Given the description of an element on the screen output the (x, y) to click on. 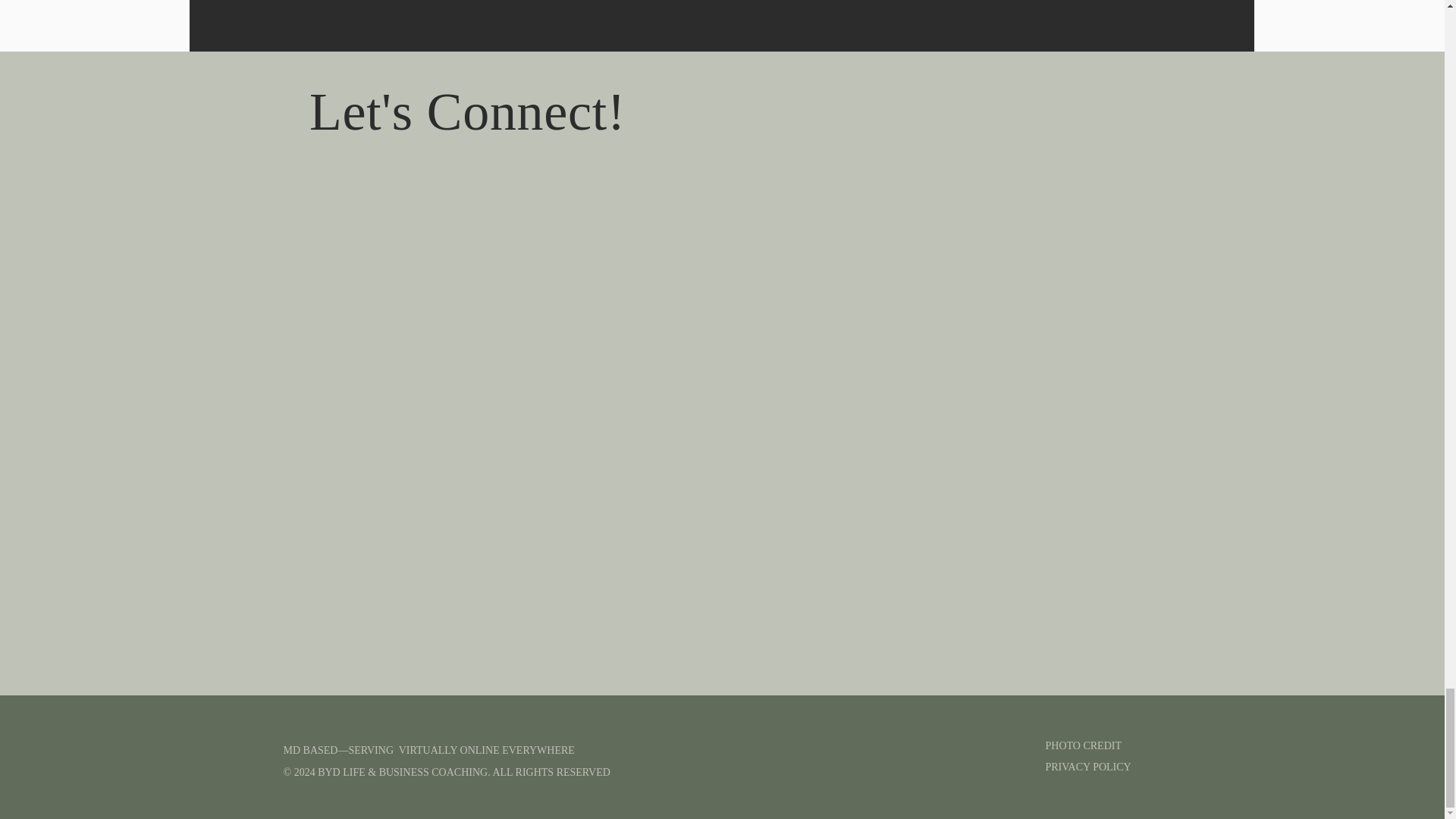
PHOTO CREDIT (1107, 749)
